Given the description of an element on the screen output the (x, y) to click on. 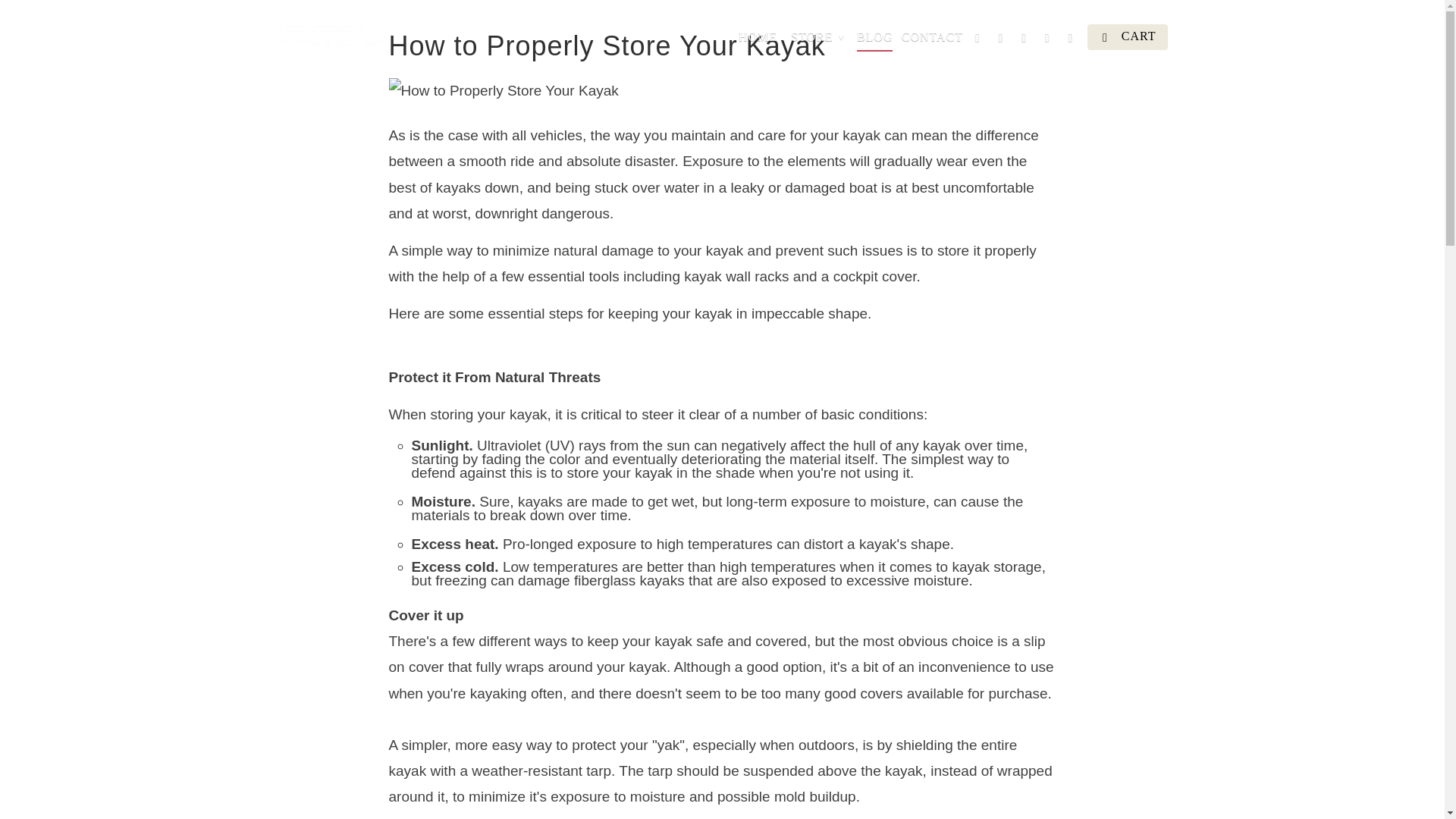
CONTACT (931, 39)
HOME (757, 39)
BLOG (875, 39)
CART (1127, 36)
